Given the description of an element on the screen output the (x, y) to click on. 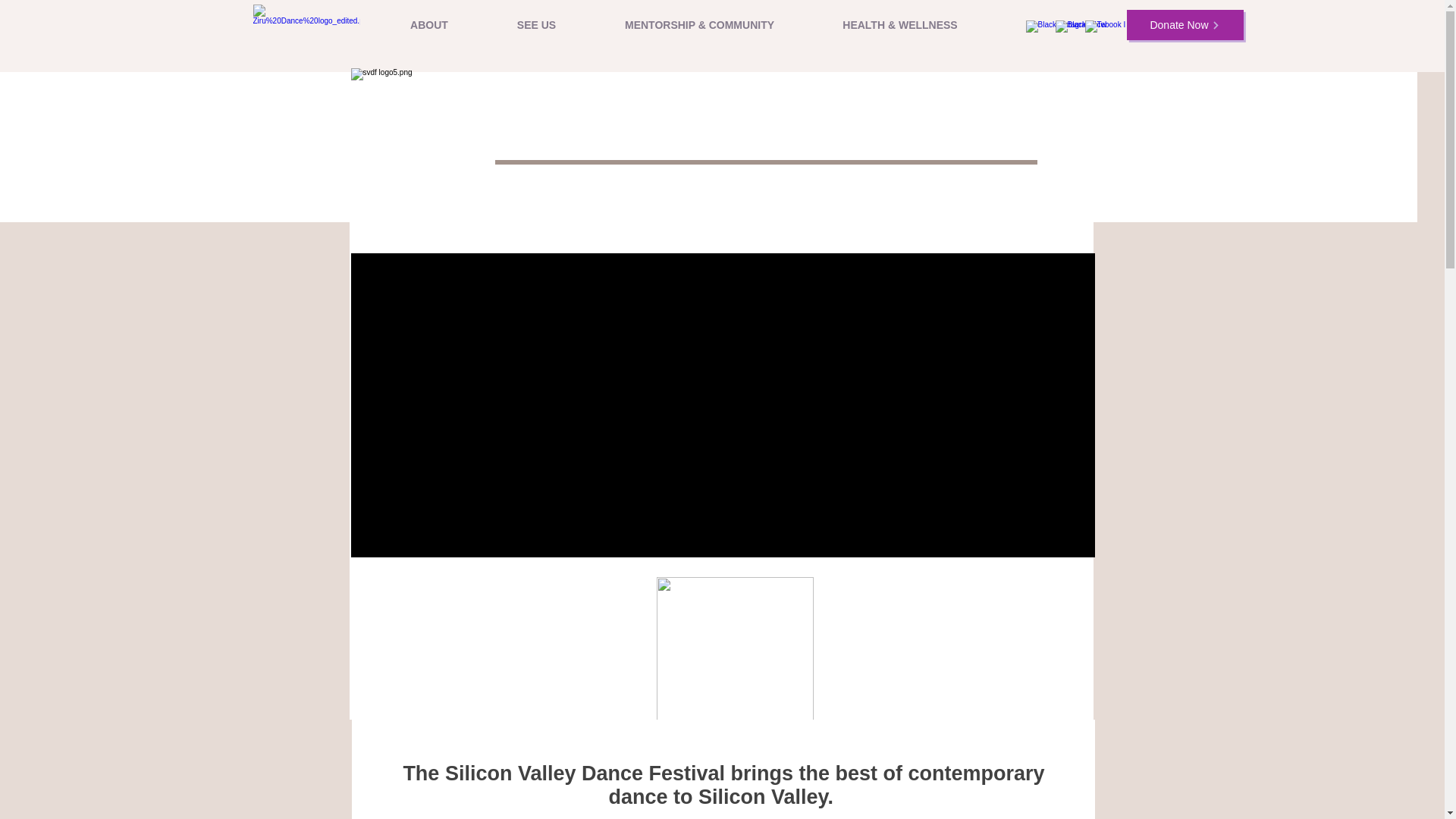
Donate Now (1184, 24)
